Given the description of an element on the screen output the (x, y) to click on. 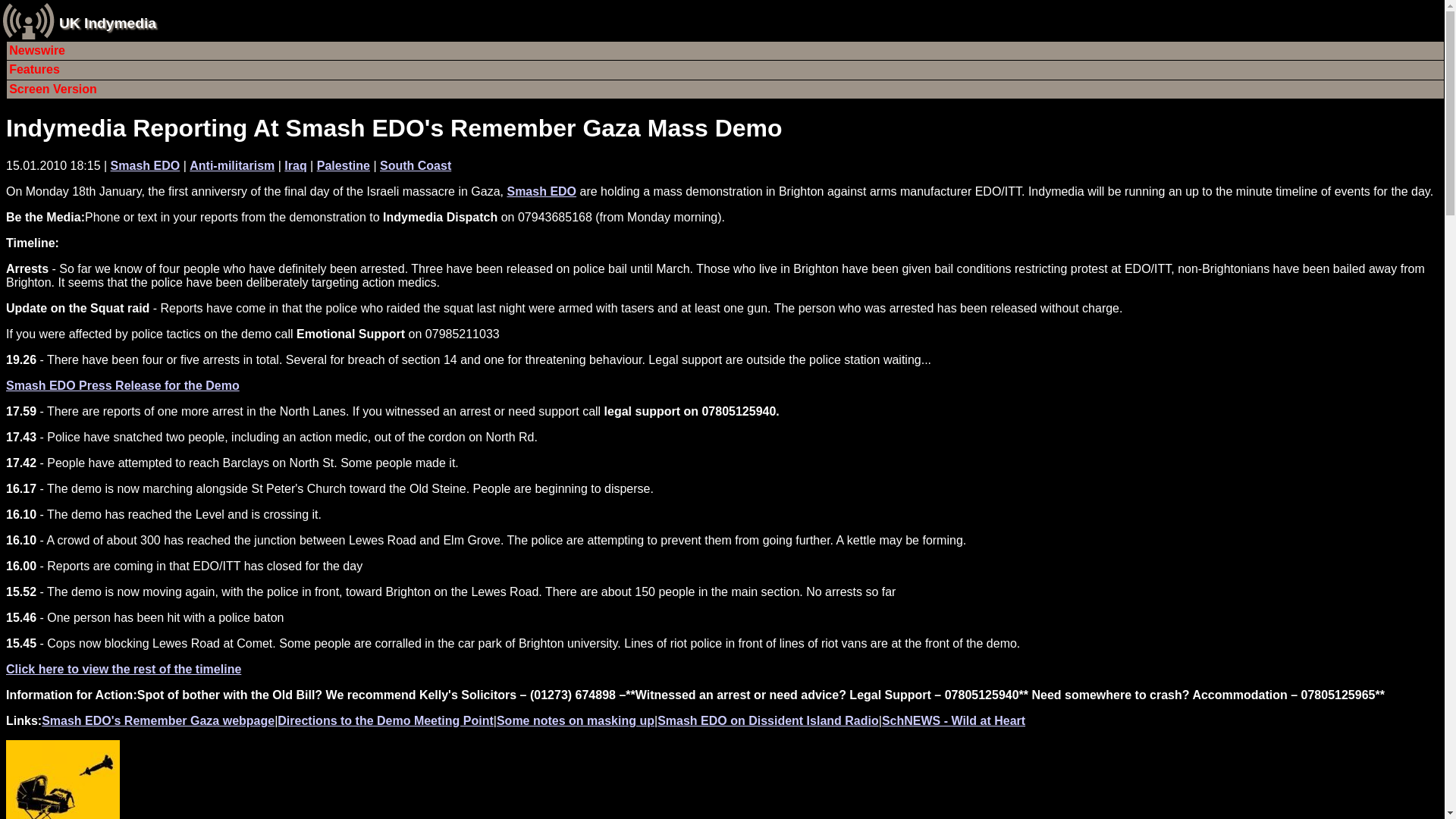
South Coast (415, 164)
Smash EDO (145, 164)
Palestine (343, 164)
Iraq (294, 164)
Smash EDO on Dissident Island Radio (768, 720)
Directions to the Demo Meeting Point (385, 720)
Click here to view the rest of the timeline (123, 668)
Anti-militarism (232, 164)
Smash EDO's Remember Gaza webpage (158, 720)
UK Indymedia (107, 23)
Some notes on masking up (574, 720)
Indymedia Reporting At Smash EDO's Remember Gaza Mass Demo (394, 127)
SchNEWS - Wild at Heart (953, 720)
Smash EDO (541, 191)
Smash EDO Press Release for the Demo (122, 385)
